Given the description of an element on the screen output the (x, y) to click on. 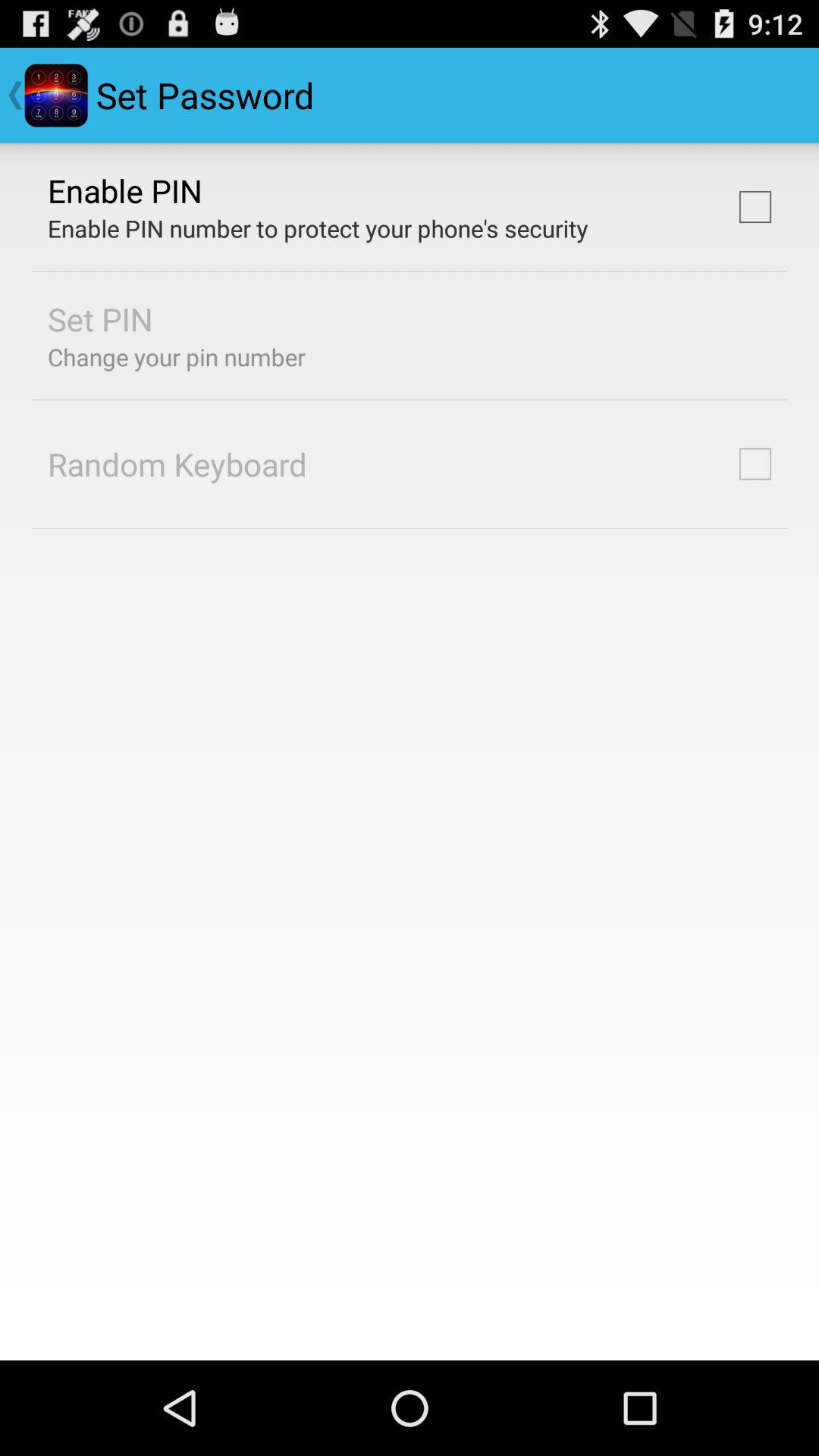
select the set pin item (99, 318)
